Given the description of an element on the screen output the (x, y) to click on. 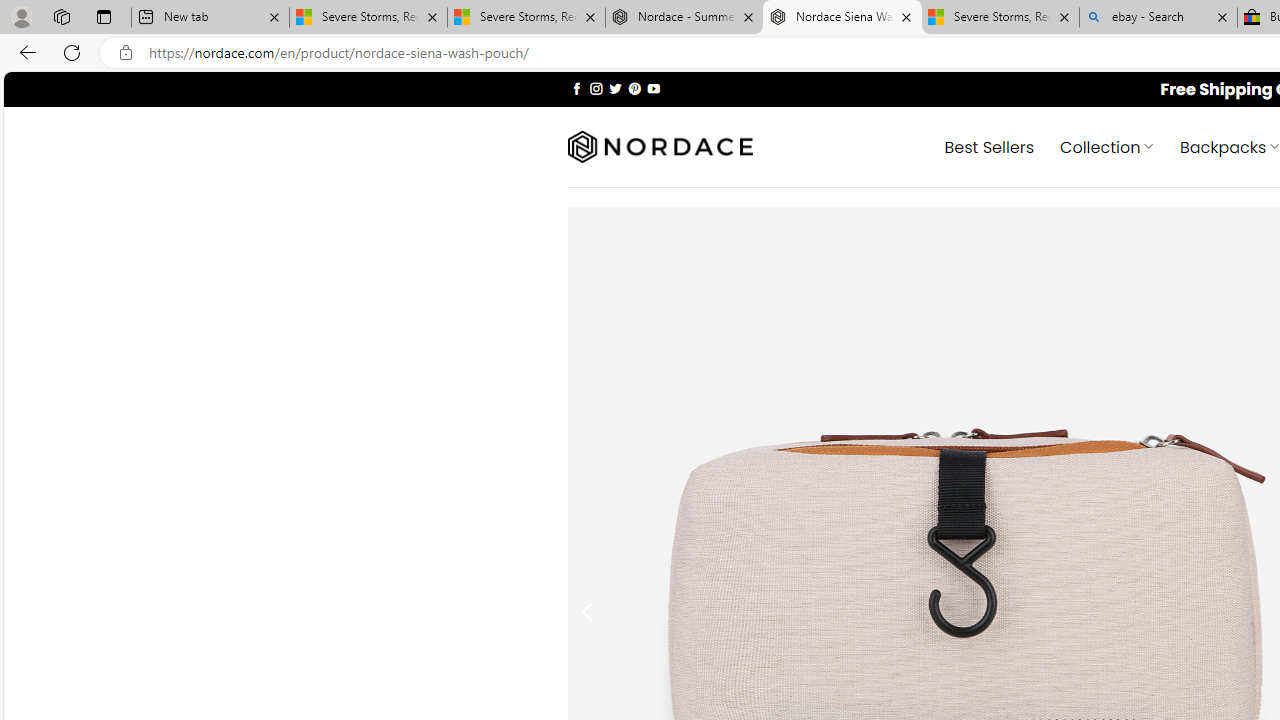
Close tab (1222, 16)
Follow on Facebook (576, 88)
Nordace Siena Wash Pouch (842, 17)
 Best Sellers (989, 146)
Workspaces (61, 16)
View site information (125, 53)
Nordace (659, 147)
Follow on Instagram (596, 88)
Follow on Pinterest (634, 88)
Nordace (659, 147)
New tab (210, 17)
Follow on YouTube (653, 88)
